Given the description of an element on the screen output the (x, y) to click on. 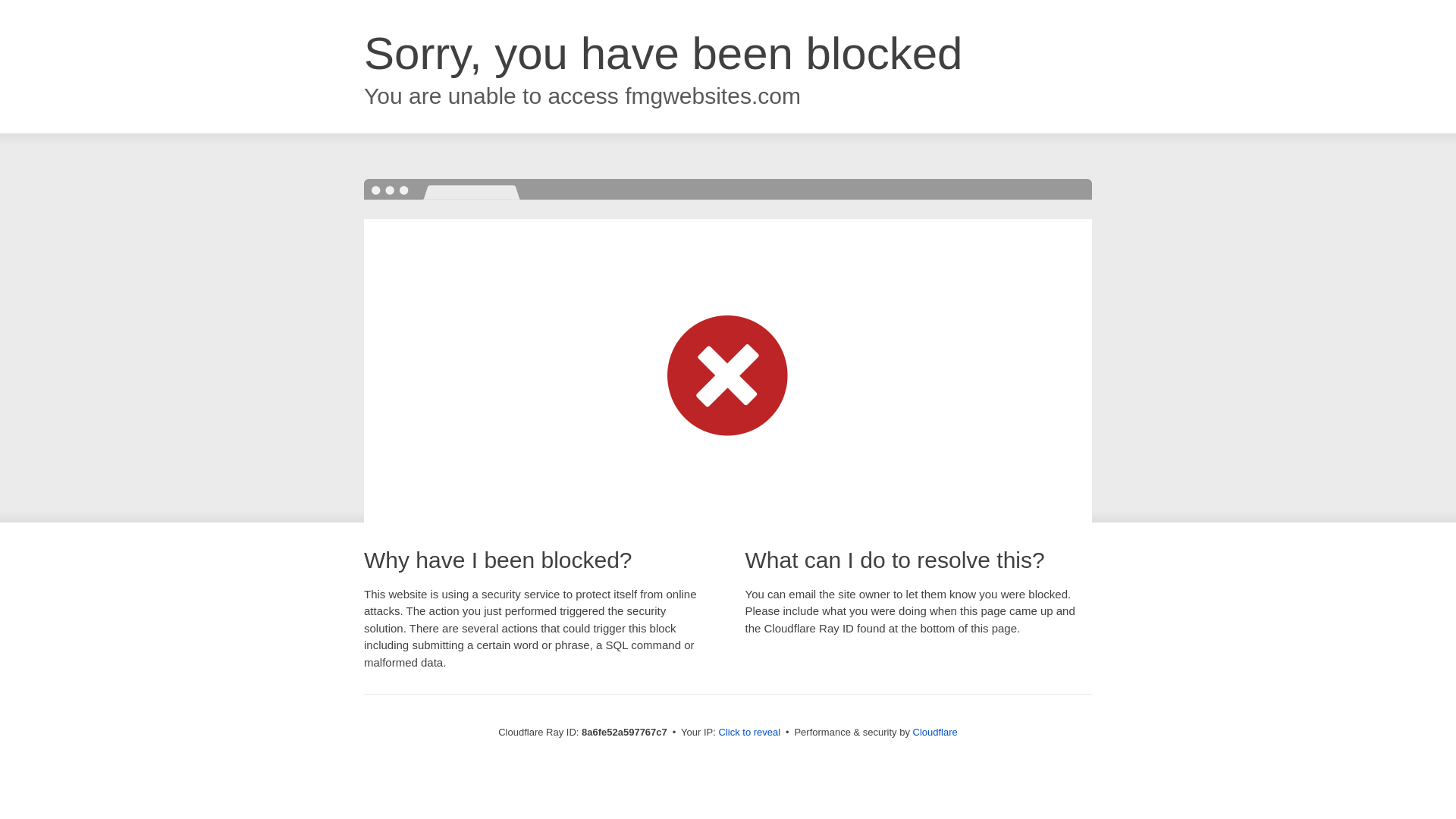
Cloudflare (935, 731)
Click to reveal (749, 732)
